Given the description of an element on the screen output the (x, y) to click on. 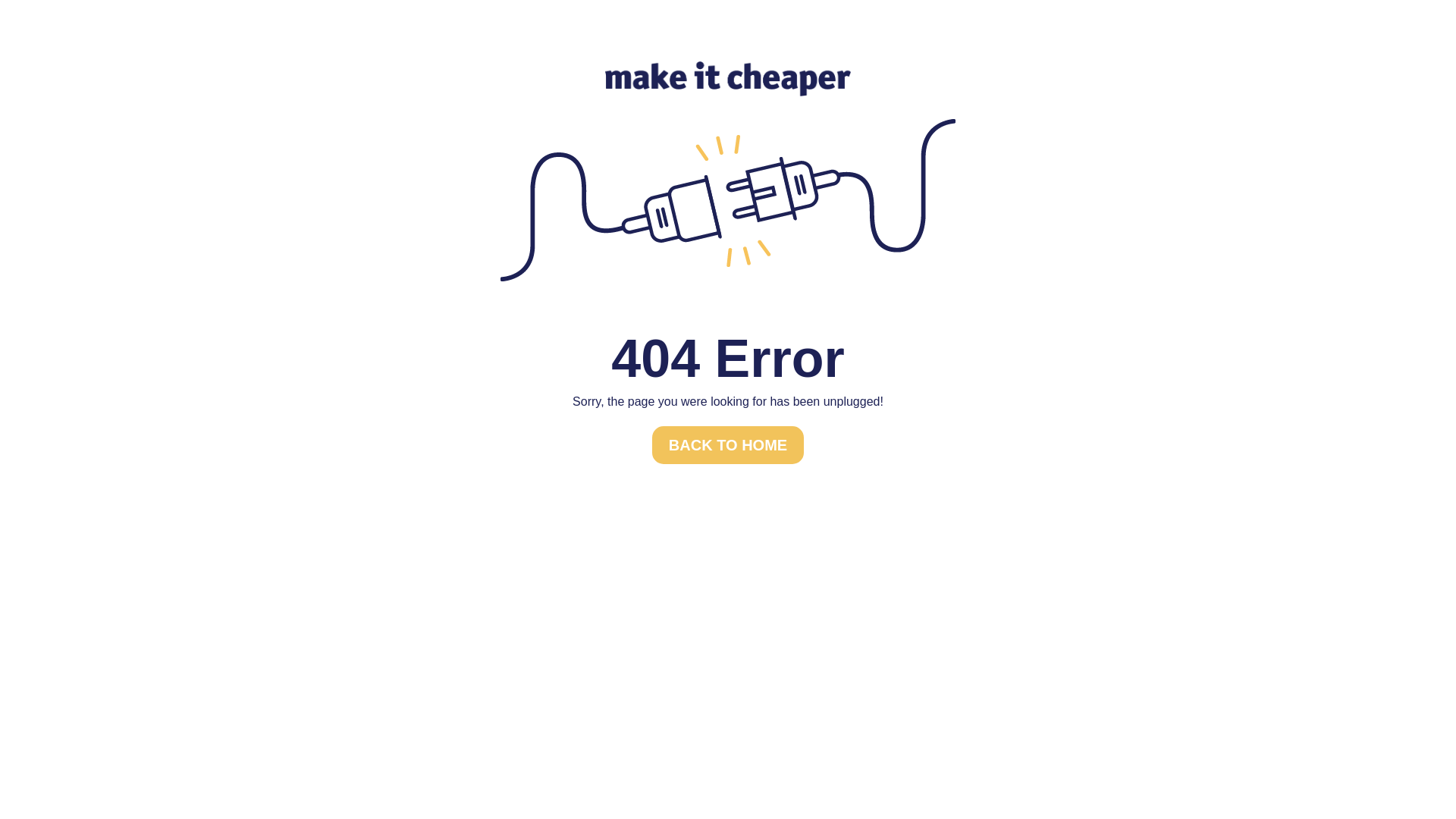
BACK TO HOME Element type: text (727, 445)
unplugged Element type: hover (727, 200)
MiC logo horizontal Element type: hover (727, 78)
